Given the description of an element on the screen output the (x, y) to click on. 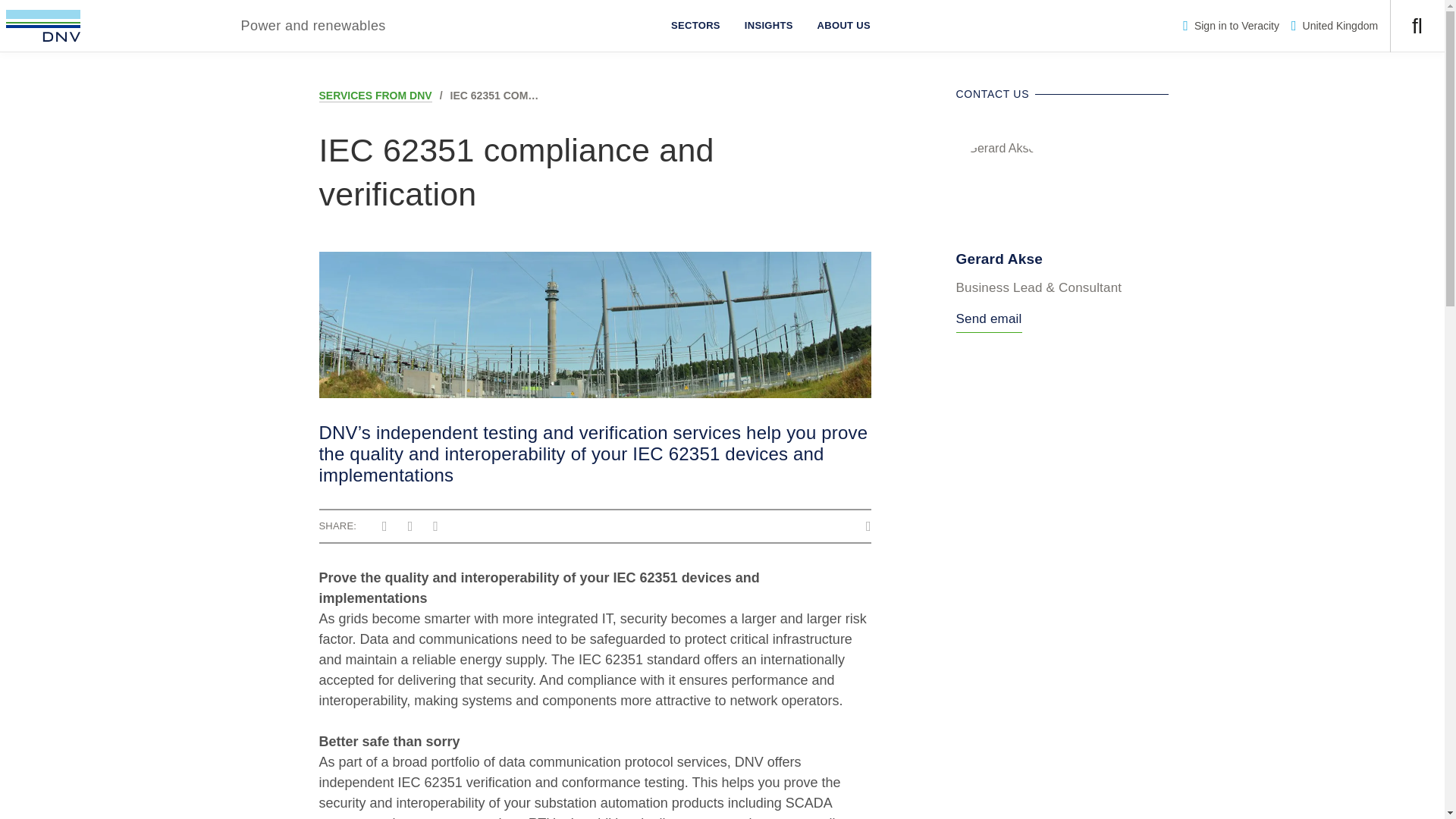
SECTORS (695, 25)
ABOUT US (843, 25)
INSIGHTS (768, 25)
